Given the description of an element on the screen output the (x, y) to click on. 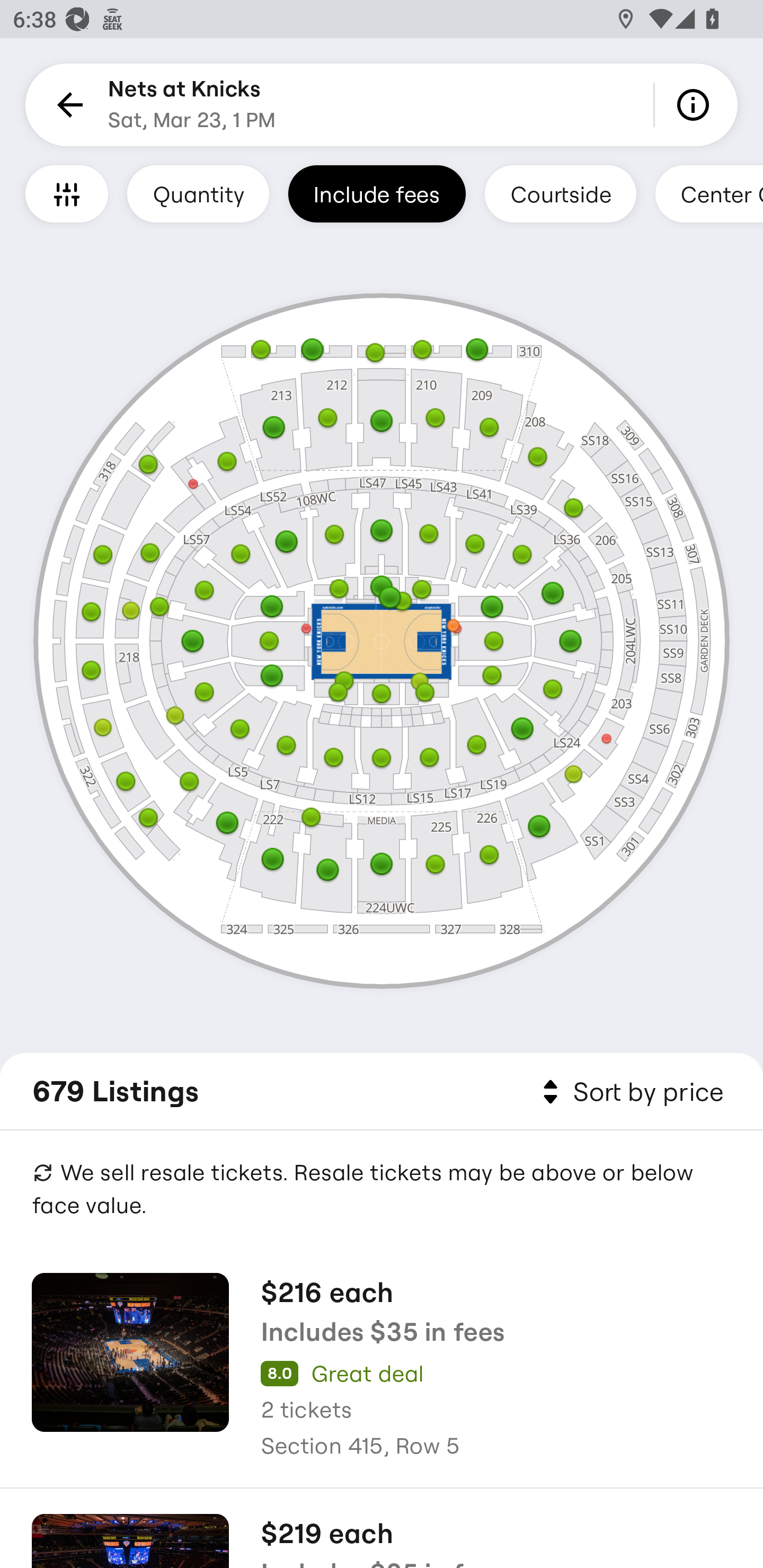
Back Nets at Knicks Sat, Mar 23, 1 PM Info (381, 104)
Back (66, 104)
Nets at Knicks Sat, Mar 23, 1 PM (192, 104)
Info (695, 104)
Filters and Accessible Seating (66, 193)
Quantity (198, 193)
Include fees (376, 193)
Courtside (560, 193)
Center Court (709, 193)
Sort by price (629, 1091)
